Given the description of an element on the screen output the (x, y) to click on. 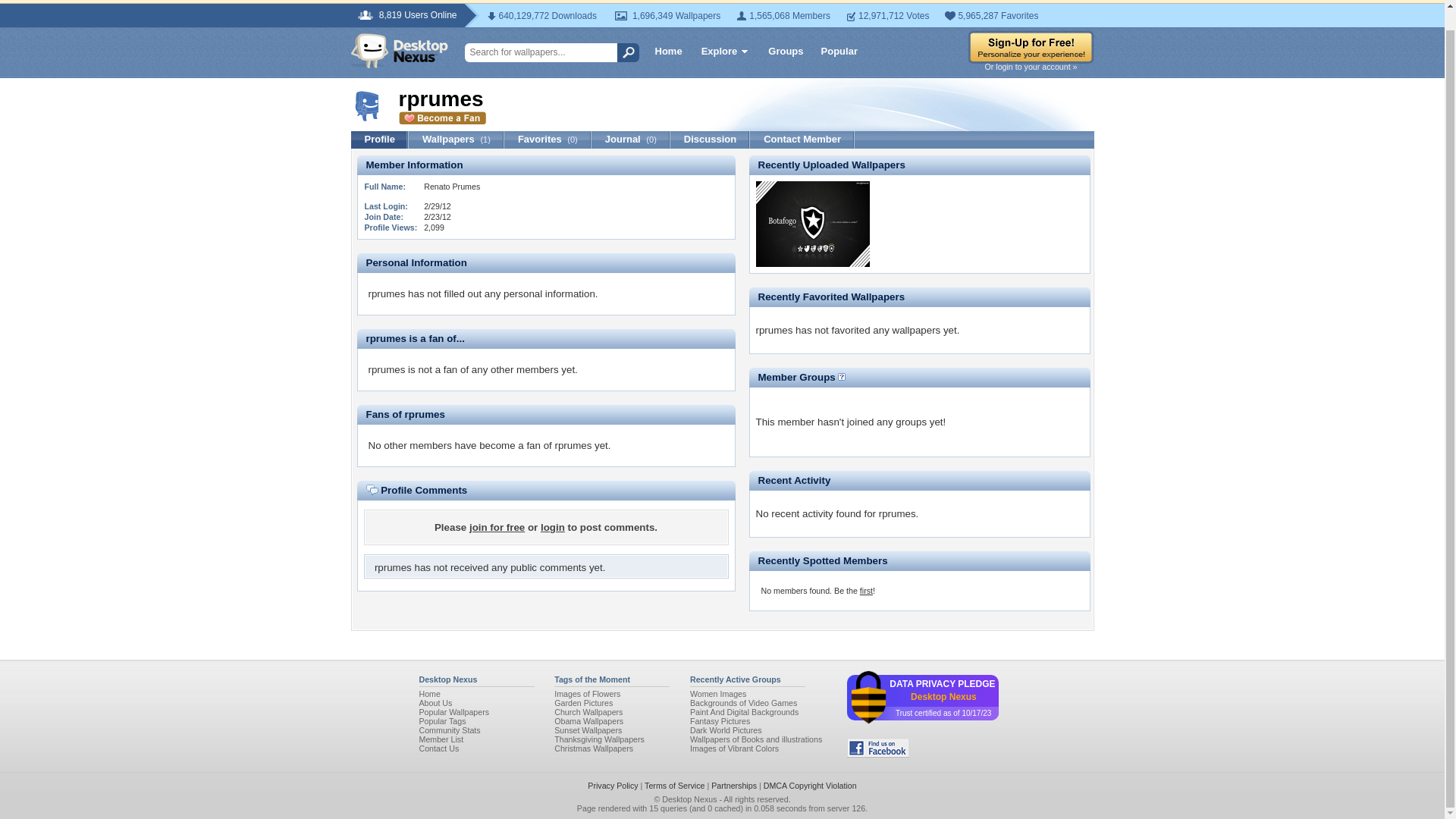
Explore (725, 53)
Discussion (709, 139)
Contact Member (801, 139)
This member hasn't joined any (825, 433)
Desktop Nexus Wallpapers (398, 50)
first (866, 590)
Botafogo F.R. (812, 263)
Groups (785, 50)
Desktop Nexus Wallpapers (398, 50)
Home (668, 50)
Search for wallpapers... (546, 52)
Profile (378, 139)
groups (910, 421)
login (552, 527)
Desktop Nexus Wallpapers (429, 693)
